Given the description of an element on the screen output the (x, y) to click on. 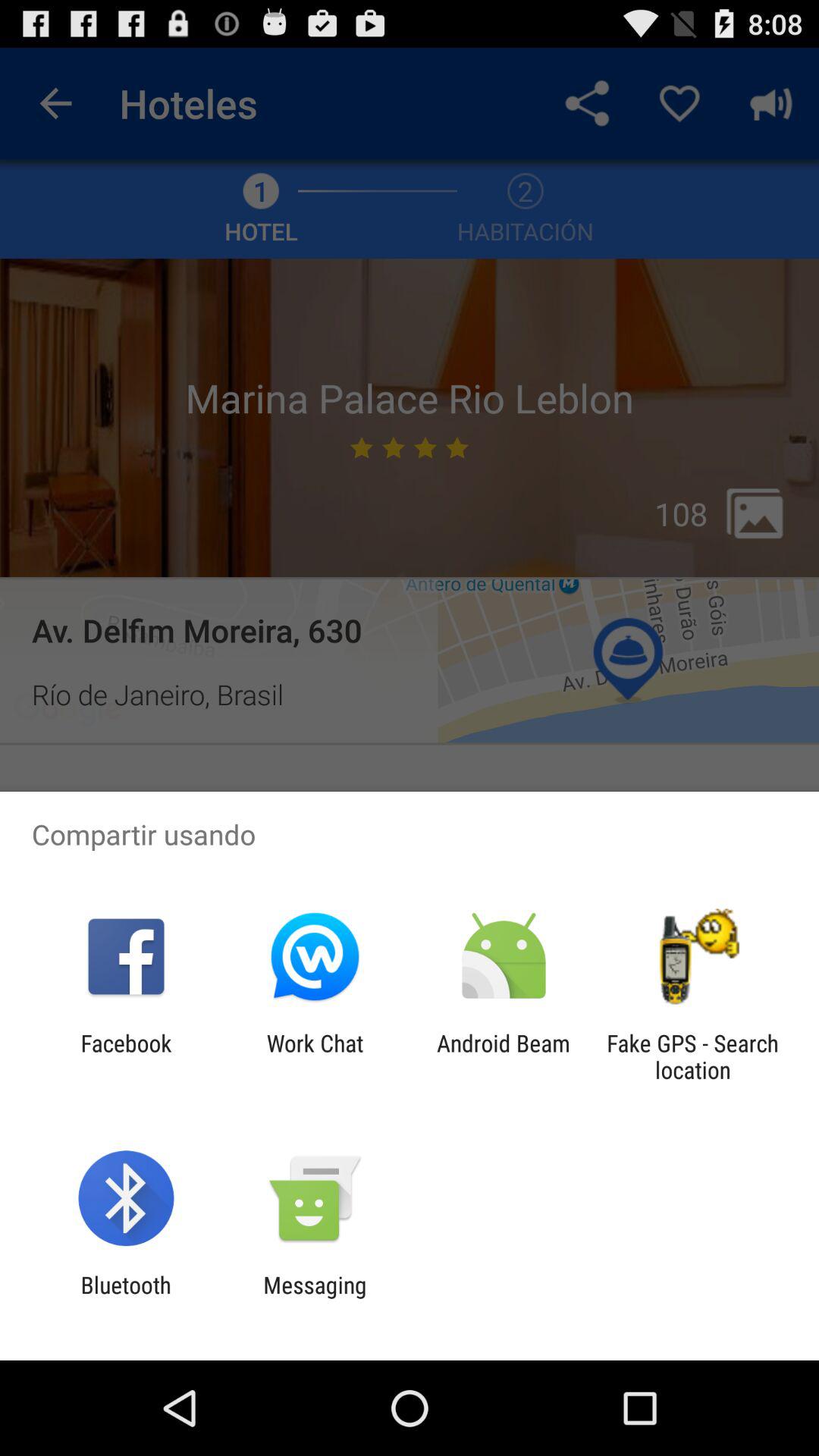
click the icon to the left of the fake gps search app (503, 1056)
